Given the description of an element on the screen output the (x, y) to click on. 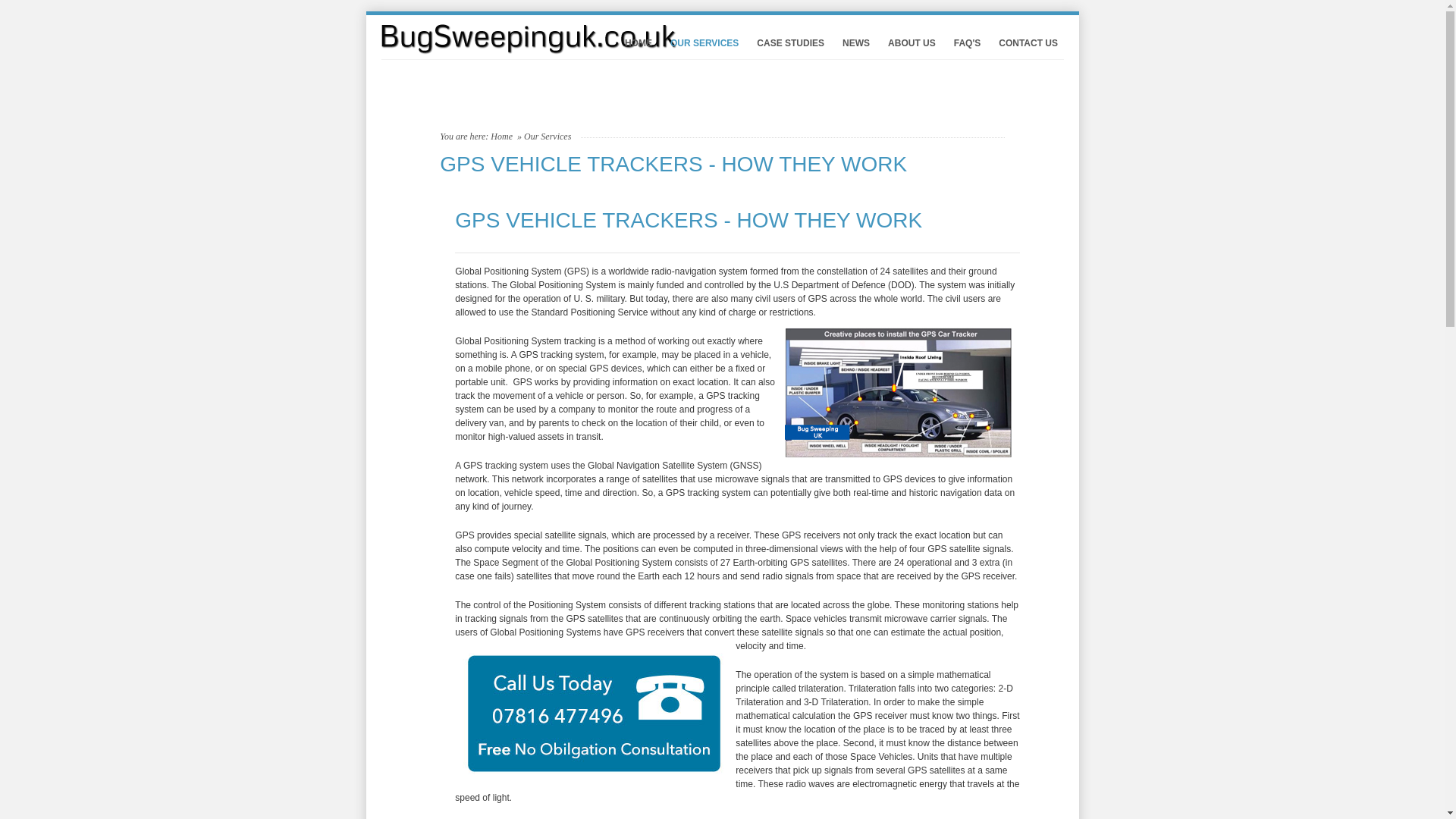
Home (501, 136)
Bug Sweeping UK (485, 39)
HOME (636, 43)
Home (501, 136)
